Given the description of an element on the screen output the (x, y) to click on. 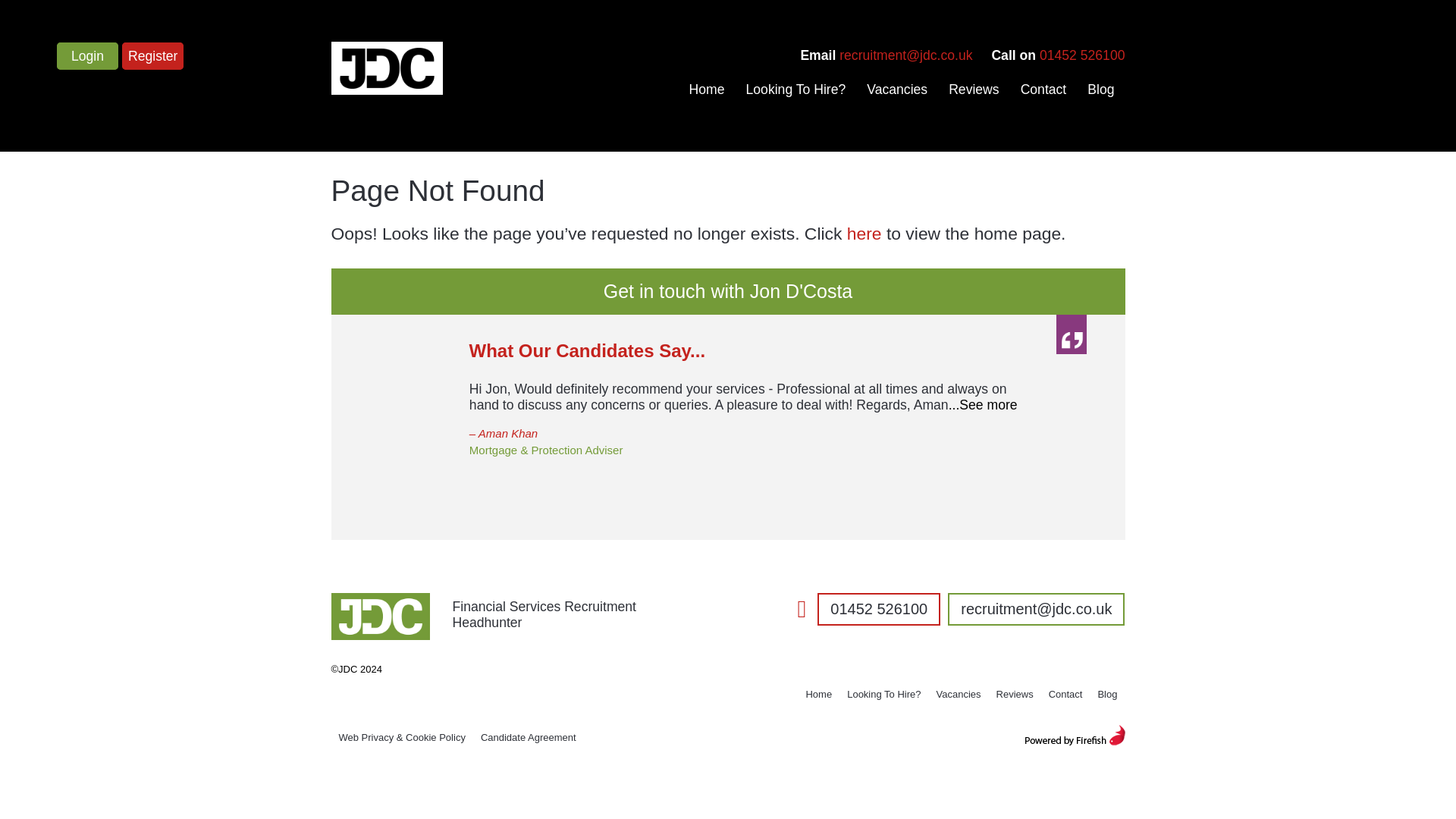
Recruitment Software - Firefish Software (1073, 734)
Vacancies (958, 693)
Looking To Hire? (884, 693)
Contact (1043, 89)
Reviews (1014, 693)
Home (706, 89)
...See more (983, 404)
Register (153, 55)
Contact (1065, 693)
Blog (1100, 89)
